Given the description of an element on the screen output the (x, y) to click on. 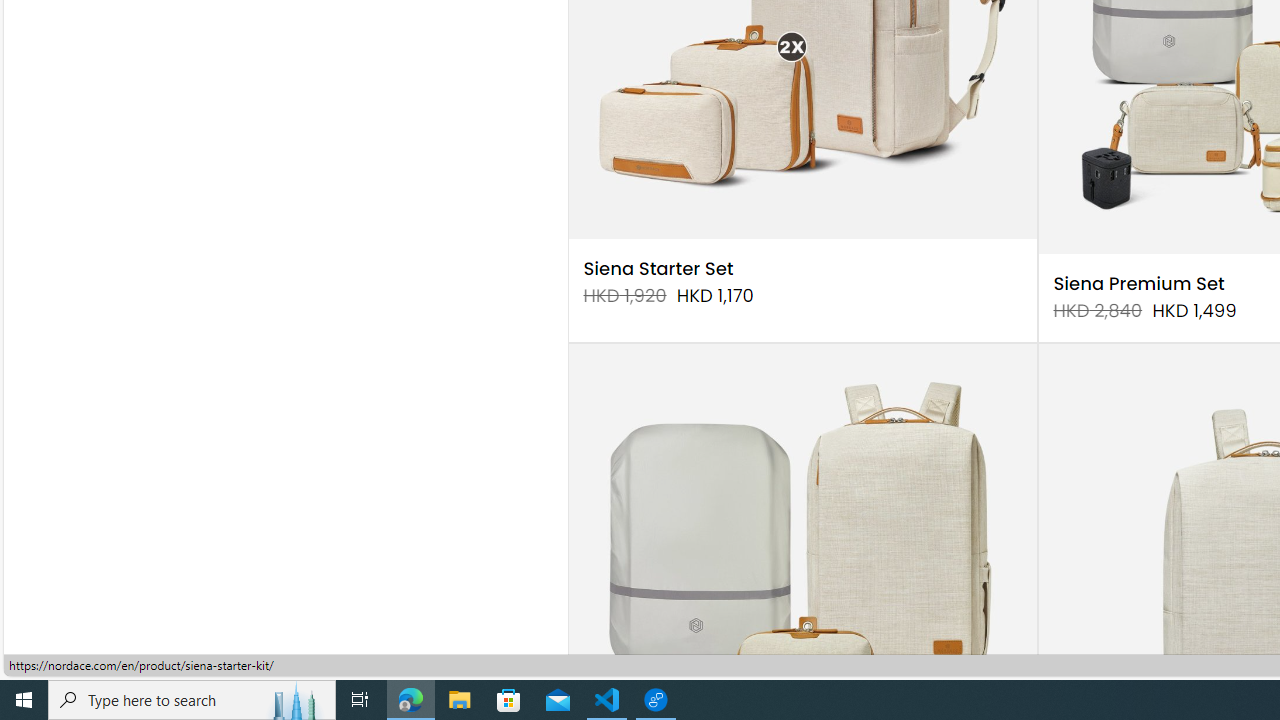
Siena Starter Set (657, 268)
Siena Premium Set (1138, 283)
